Given the description of an element on the screen output the (x, y) to click on. 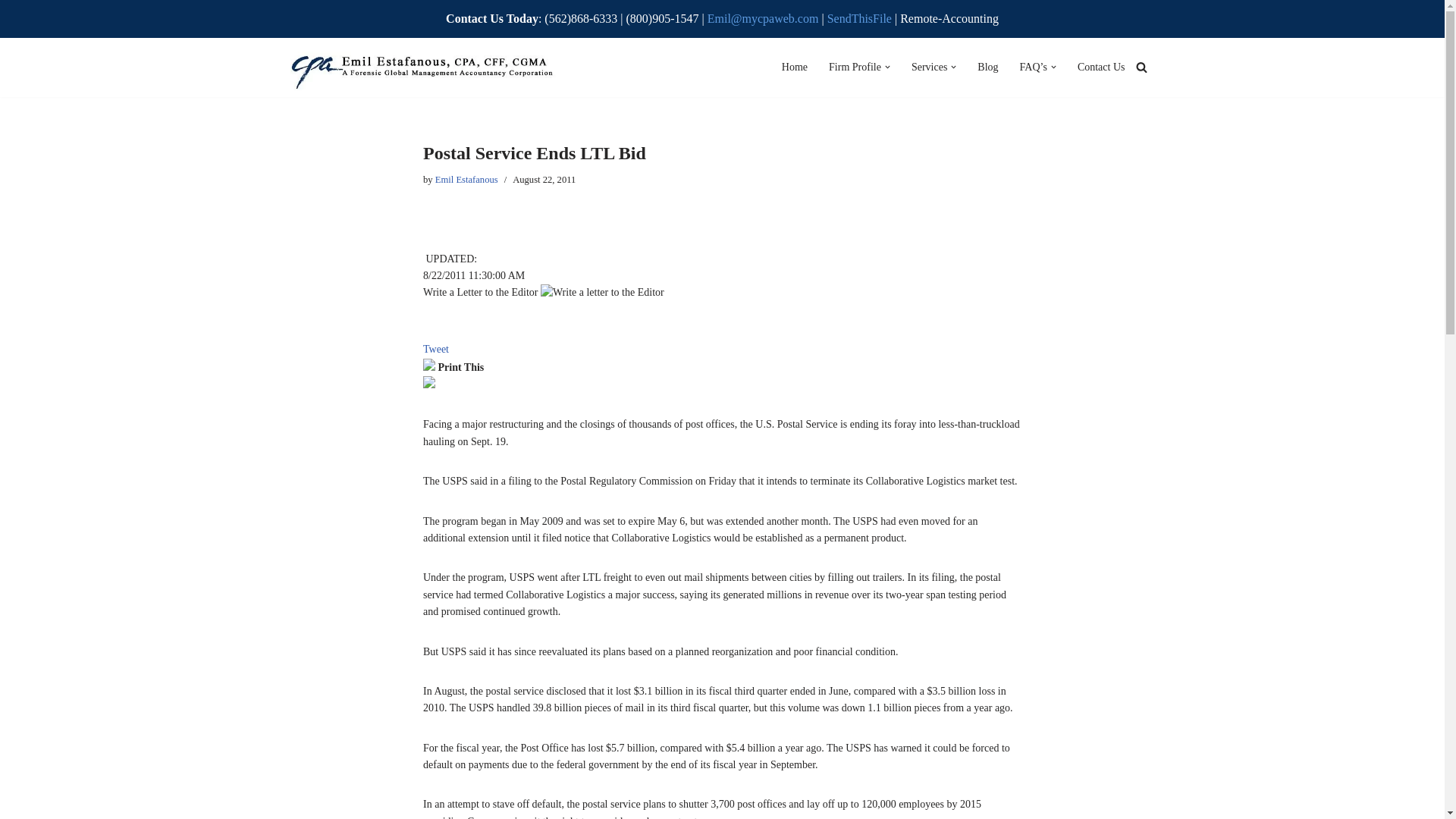
Remote-Accounting (948, 18)
Skip to content (11, 31)
Blog (986, 66)
Services (929, 66)
Firm Profile (854, 66)
Home (794, 66)
SendThisFile (861, 18)
Contact Us (1101, 66)
Posts by Emil Estafanous (466, 179)
